Given the description of an element on the screen output the (x, y) to click on. 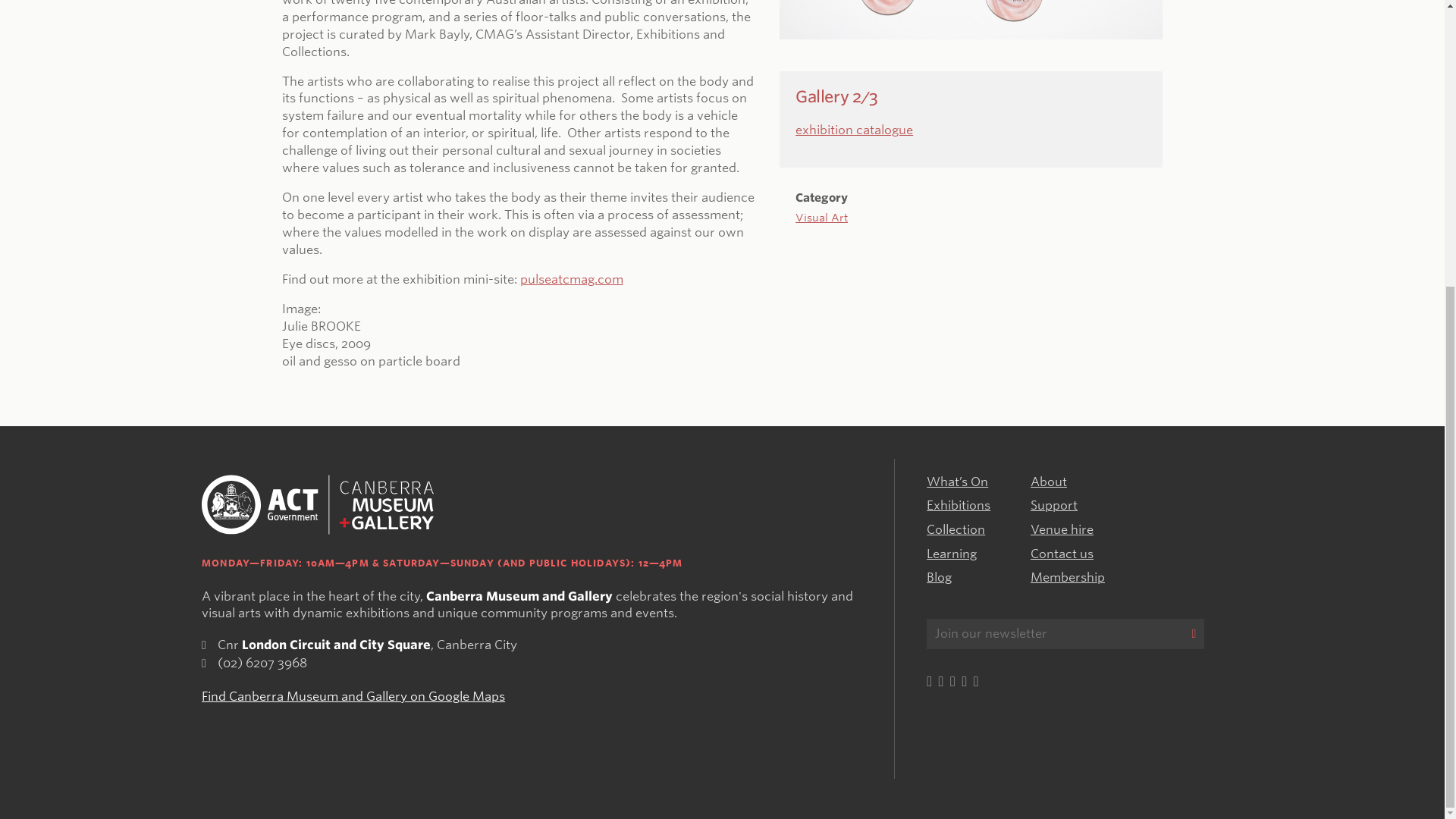
About (1048, 481)
pulseatcmag.com (571, 278)
exhibition catalogue (853, 129)
Support (1053, 504)
Find Canberra Museum and Gallery on Google Maps (353, 696)
Contact us (1061, 554)
Visual Art (820, 205)
Collection (955, 529)
Canberra Museum and Gallery (317, 504)
Membership (1067, 577)
Blog (939, 577)
Exhibitions (958, 504)
Learning (951, 554)
Venue hire (1061, 529)
